Given the description of an element on the screen output the (x, y) to click on. 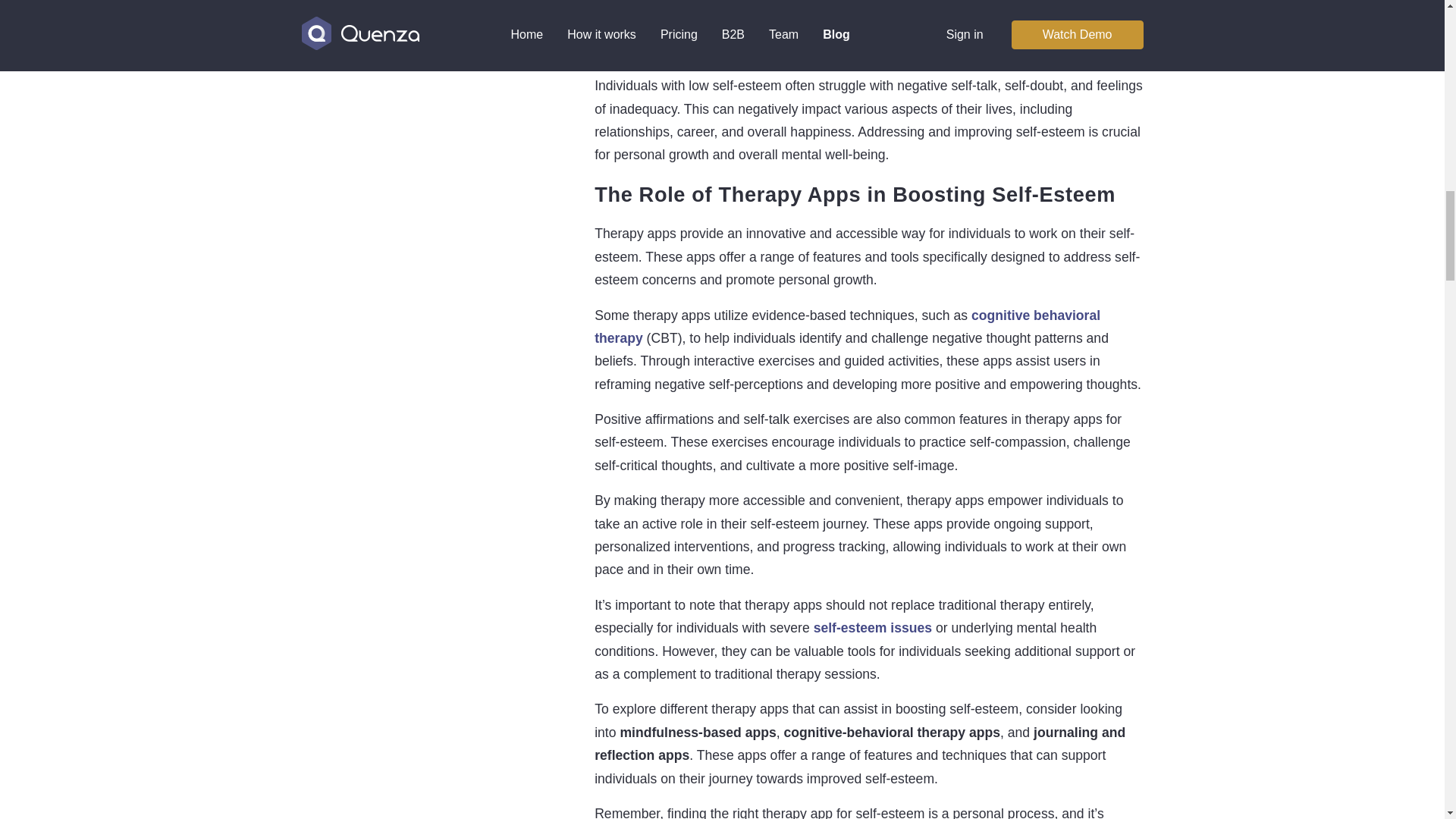
self-esteem issues (872, 627)
cognitive behavioral therapy (847, 326)
cognitive behavioral therapy (847, 326)
